Given the description of an element on the screen output the (x, y) to click on. 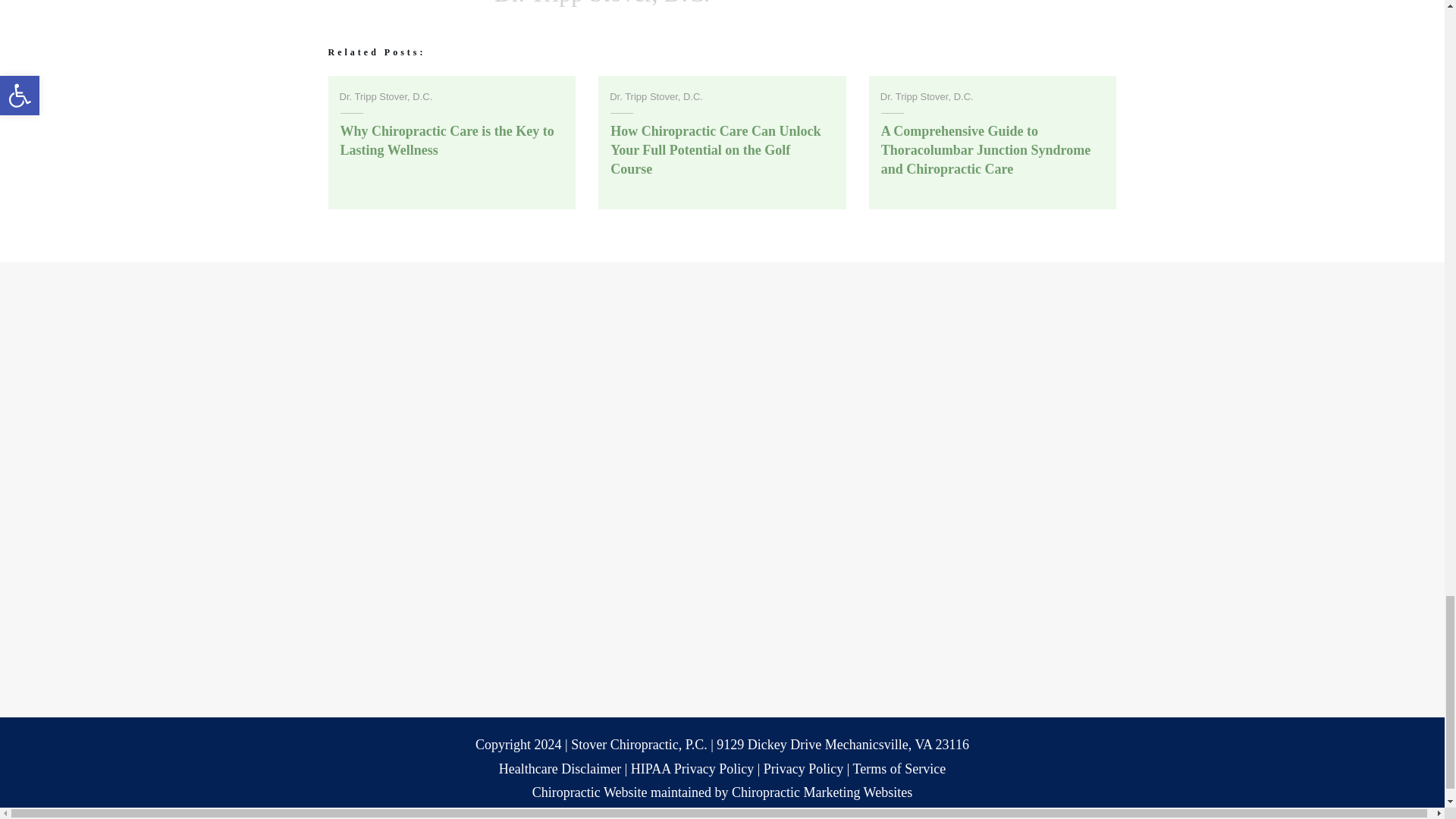
Why Chiropractic Care is the Key to Lasting Wellness (446, 140)
Privacy Policy (803, 768)
HIPAA Privacy Policy (692, 768)
Healthcare Disclaimer (560, 768)
